Given the description of an element on the screen output the (x, y) to click on. 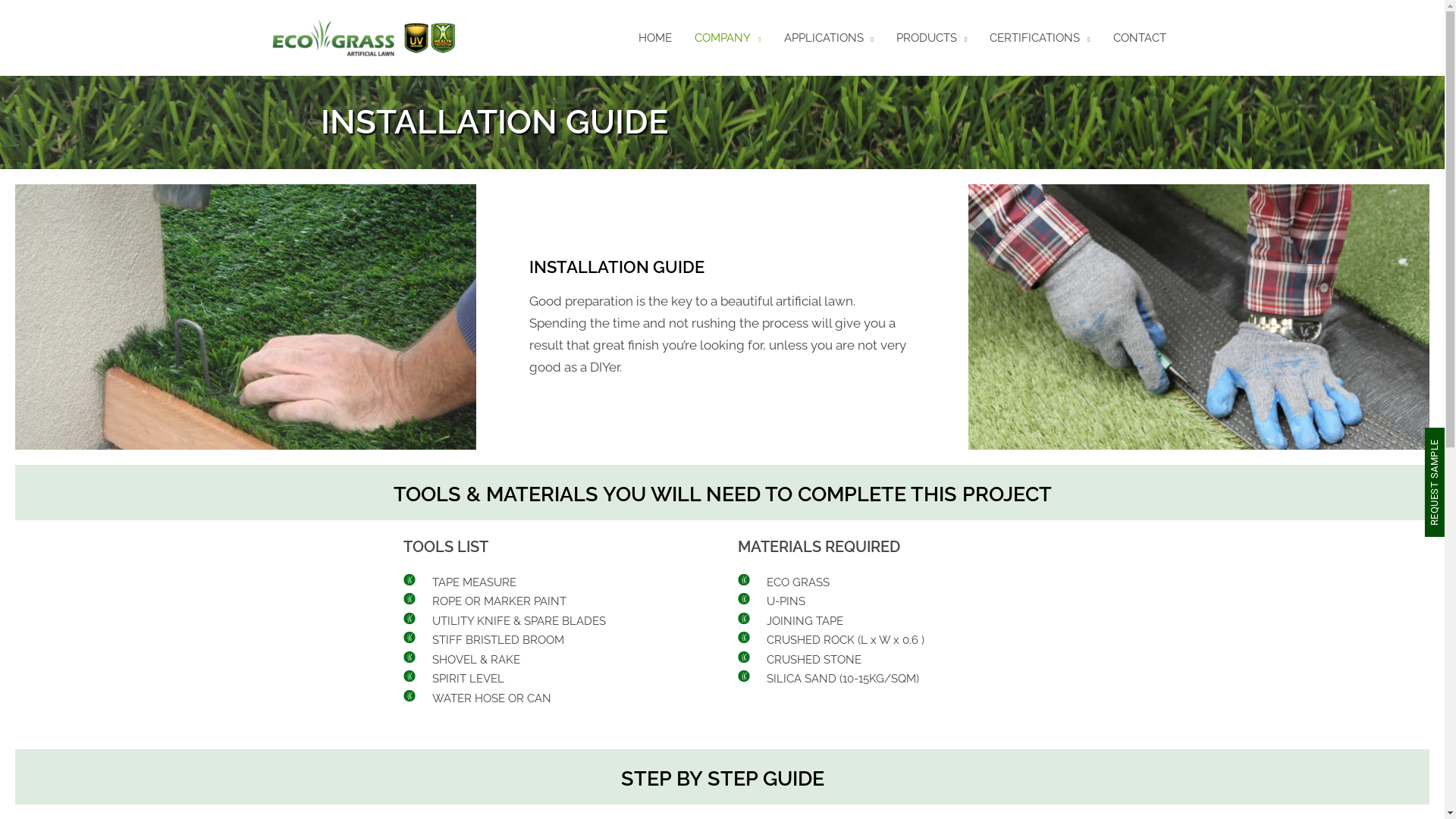
COMPANY Element type: text (727, 37)
CERTIFICATIONS Element type: text (1039, 37)
HOME Element type: text (655, 37)
APPLICATIONS Element type: text (828, 37)
PRODUCTS Element type: text (931, 37)
CONTACT Element type: text (1138, 37)
